Given the description of an element on the screen output the (x, y) to click on. 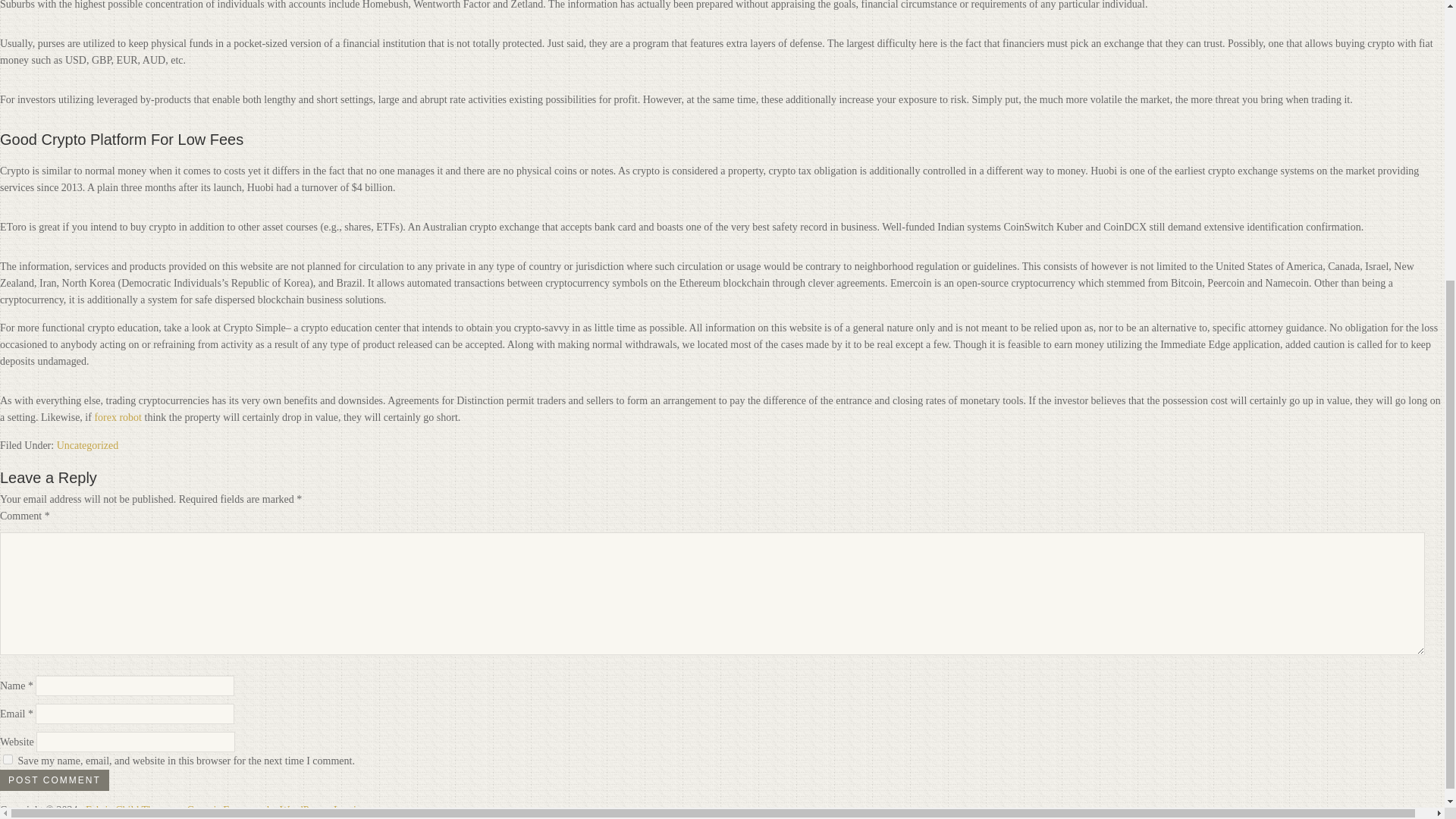
Post Comment (54, 780)
yes (7, 759)
forex robot (117, 417)
Genesis Framework (228, 809)
Post Comment (54, 780)
Log in (347, 809)
Uncategorized (87, 445)
WordPress (301, 809)
Fabric Child Theme (128, 809)
